Given the description of an element on the screen output the (x, y) to click on. 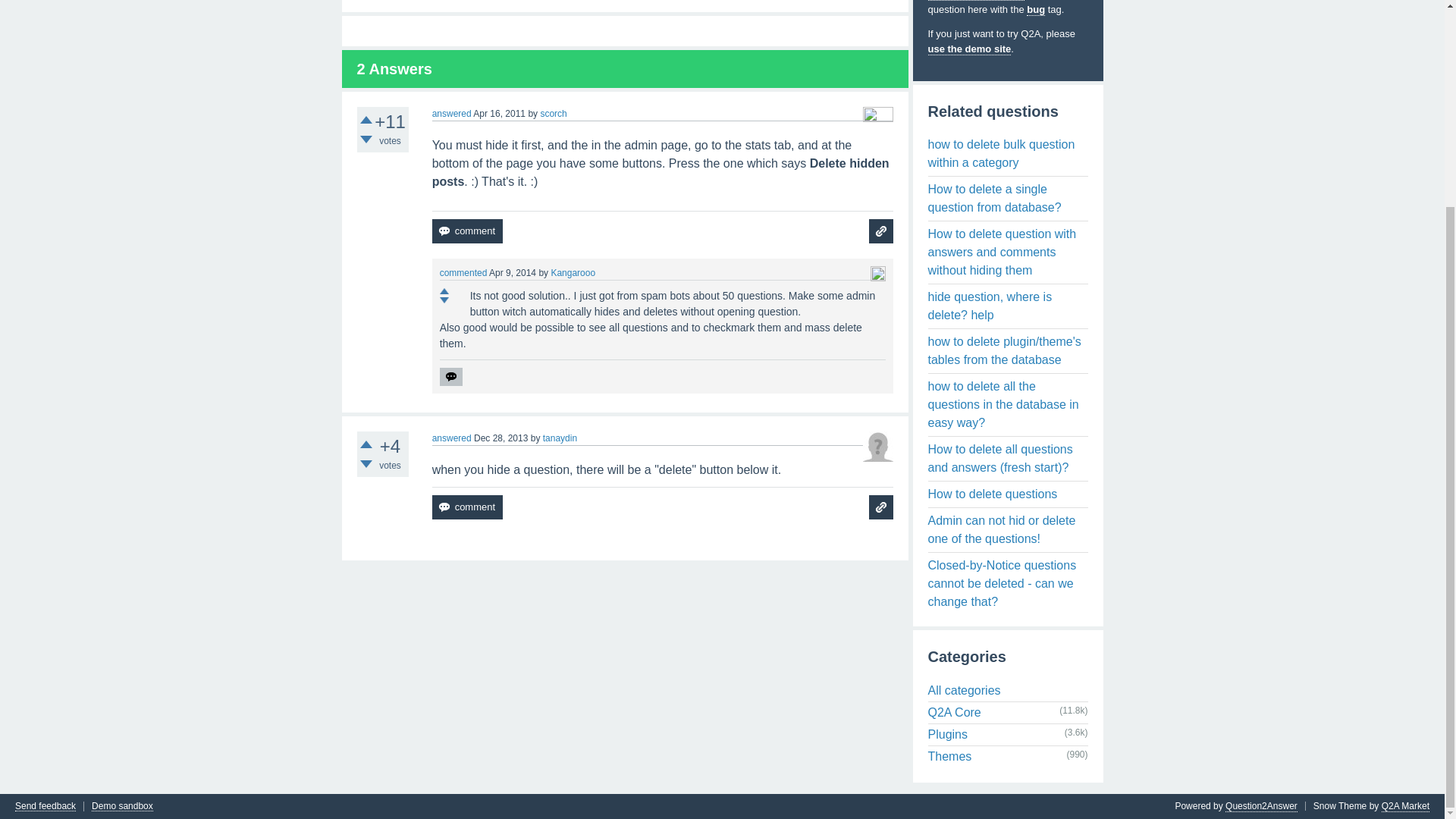
answered (451, 113)
Click to vote up (365, 119)
Ask a new question relating to this answer (881, 231)
Ask a new question relating to this answer (881, 507)
reply (451, 376)
ask related question (881, 507)
Add a comment on this answer (467, 231)
comment (467, 231)
Reply to this comment (451, 376)
Click to vote down (365, 139)
